Given the description of an element on the screen output the (x, y) to click on. 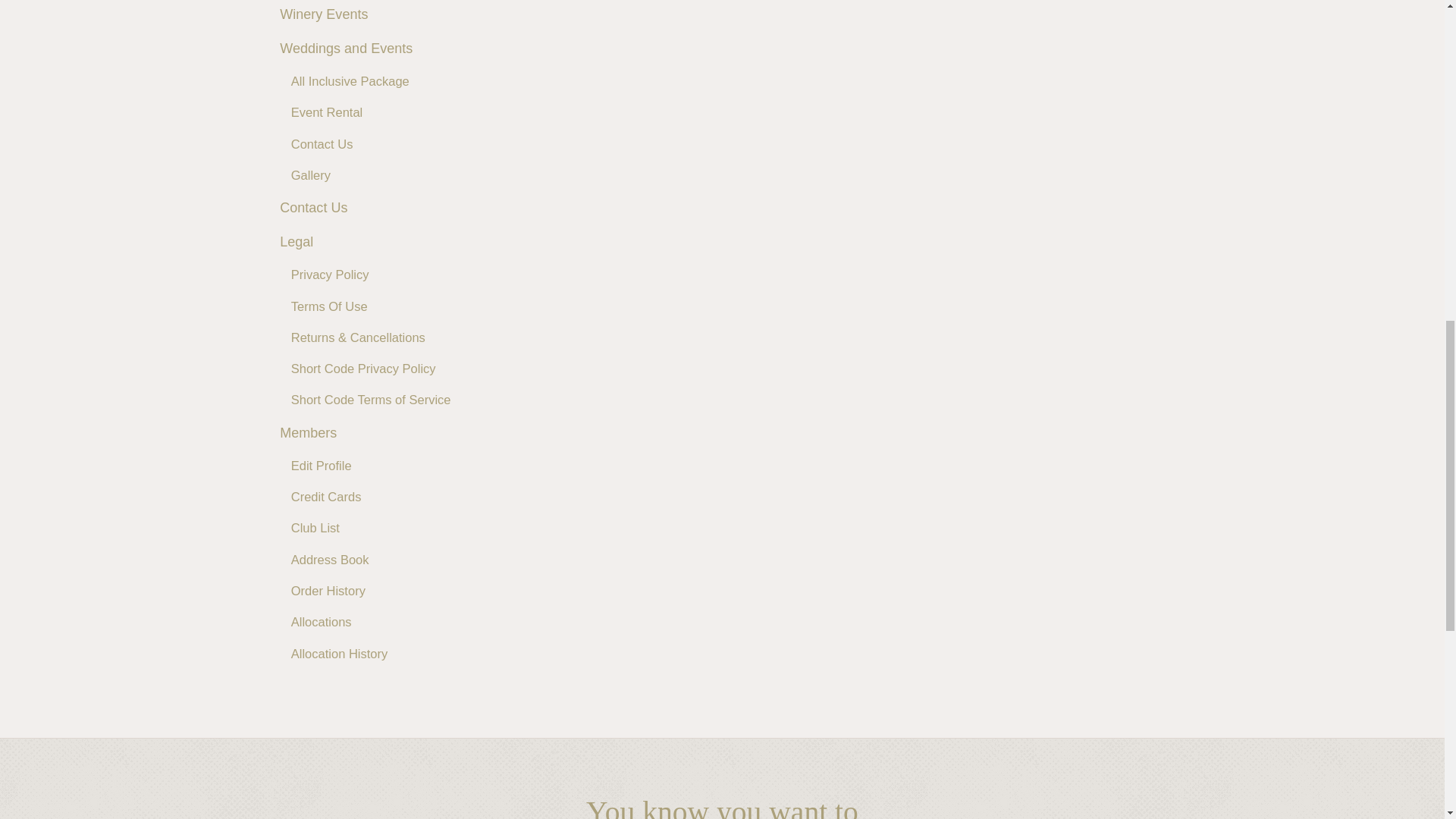
Weddings and Events (345, 48)
Privacy Policy (330, 274)
Event Rental (326, 112)
Contact Us (313, 207)
Terms Of Use (329, 306)
Short Code Terms of Service (371, 400)
Legal (296, 241)
Gallery (310, 175)
All Inclusive Package (350, 81)
Contact Us (322, 143)
